Given the description of an element on the screen output the (x, y) to click on. 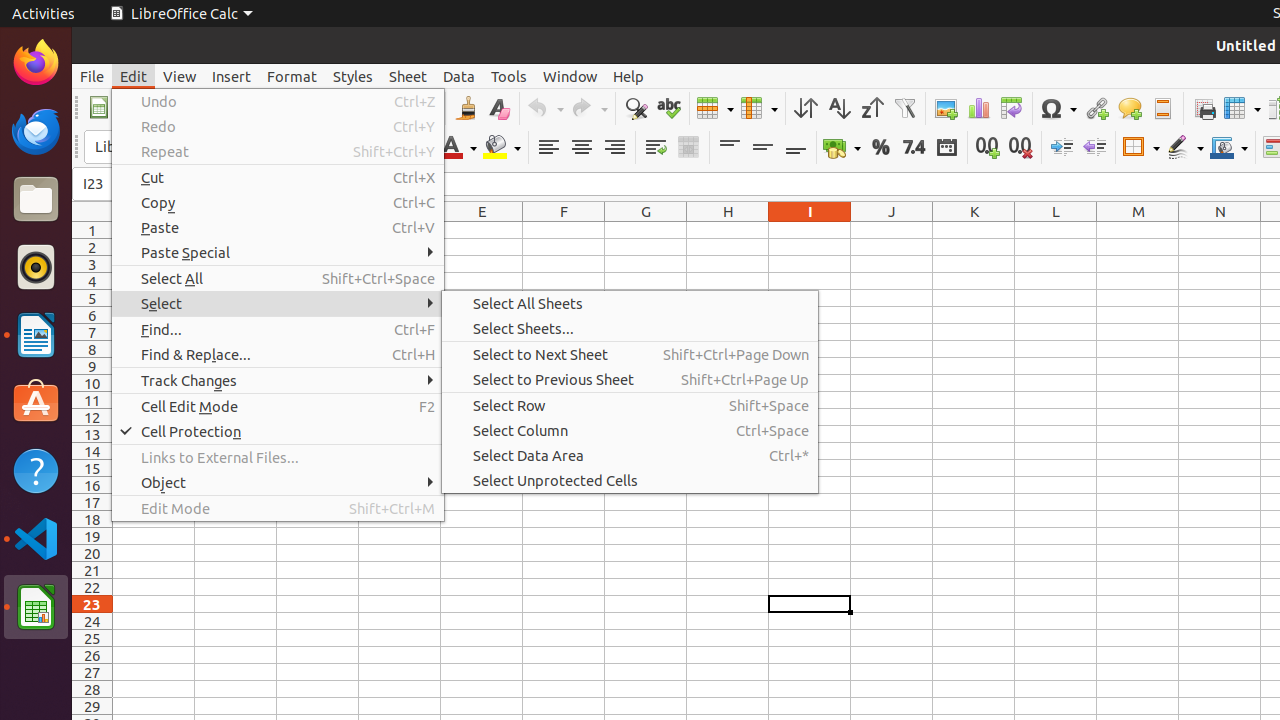
Merge and Center Cells Element type: push-button (688, 147)
Cell Edit Mode Element type: menu-item (278, 406)
Increase Element type: push-button (1061, 147)
Edit Element type: menu (133, 76)
